Given the description of an element on the screen output the (x, y) to click on. 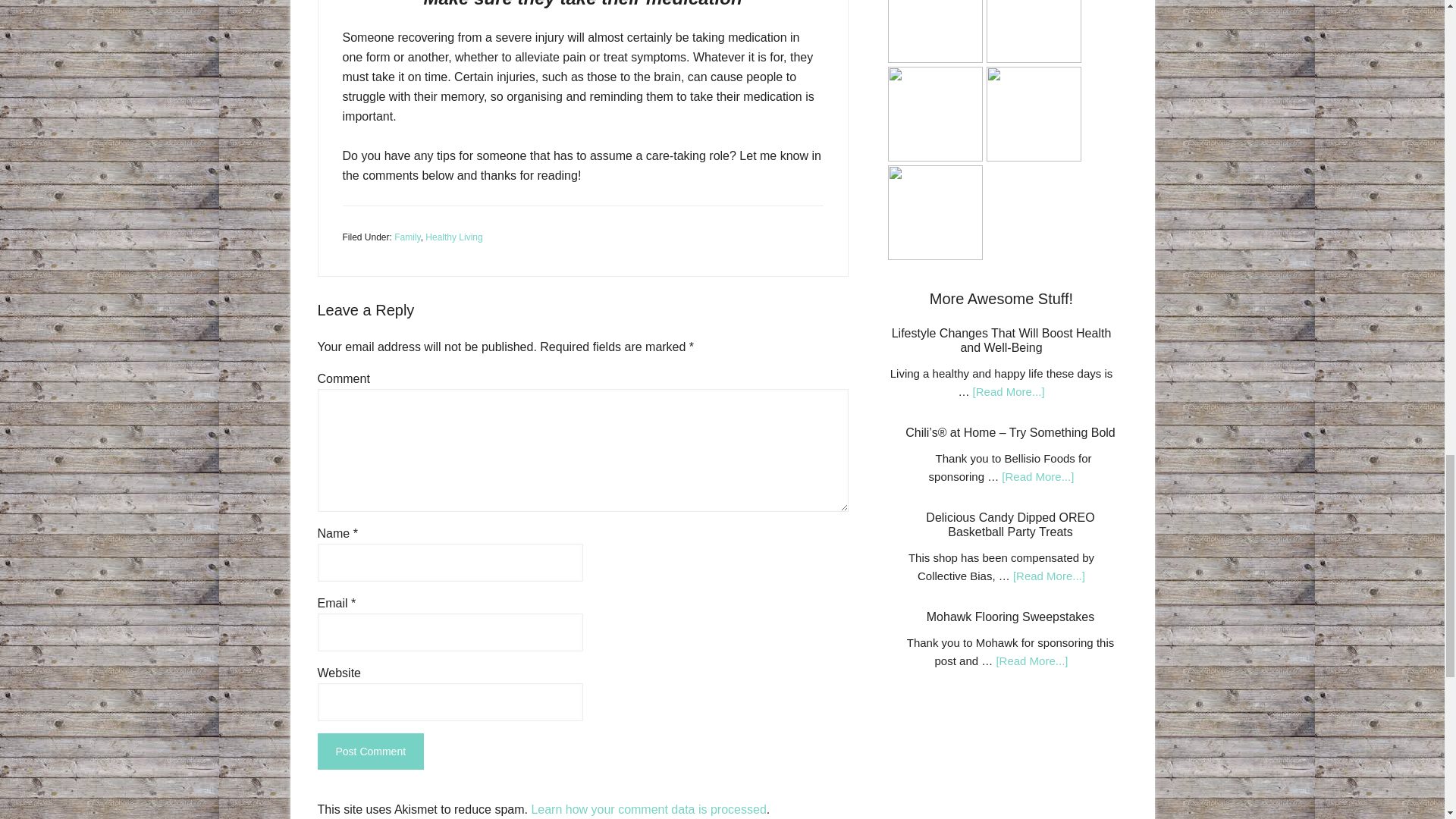
Post Comment (370, 751)
Post Comment (370, 751)
Family (407, 236)
Healthy Living (453, 236)
Learn how your comment data is processed (648, 809)
